Given the description of an element on the screen output the (x, y) to click on. 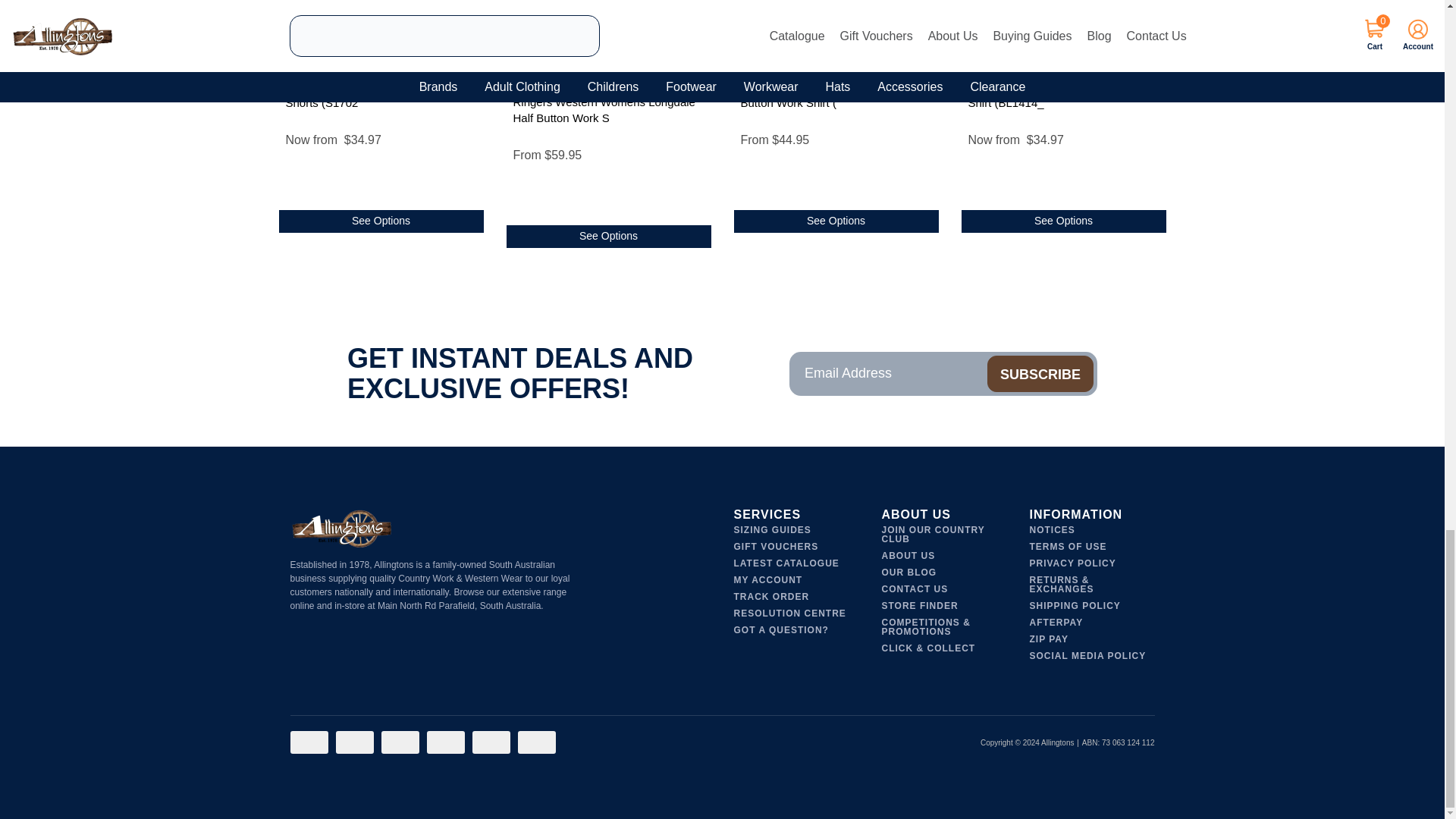
Subscribe (1040, 373)
